Given the description of an element on the screen output the (x, y) to click on. 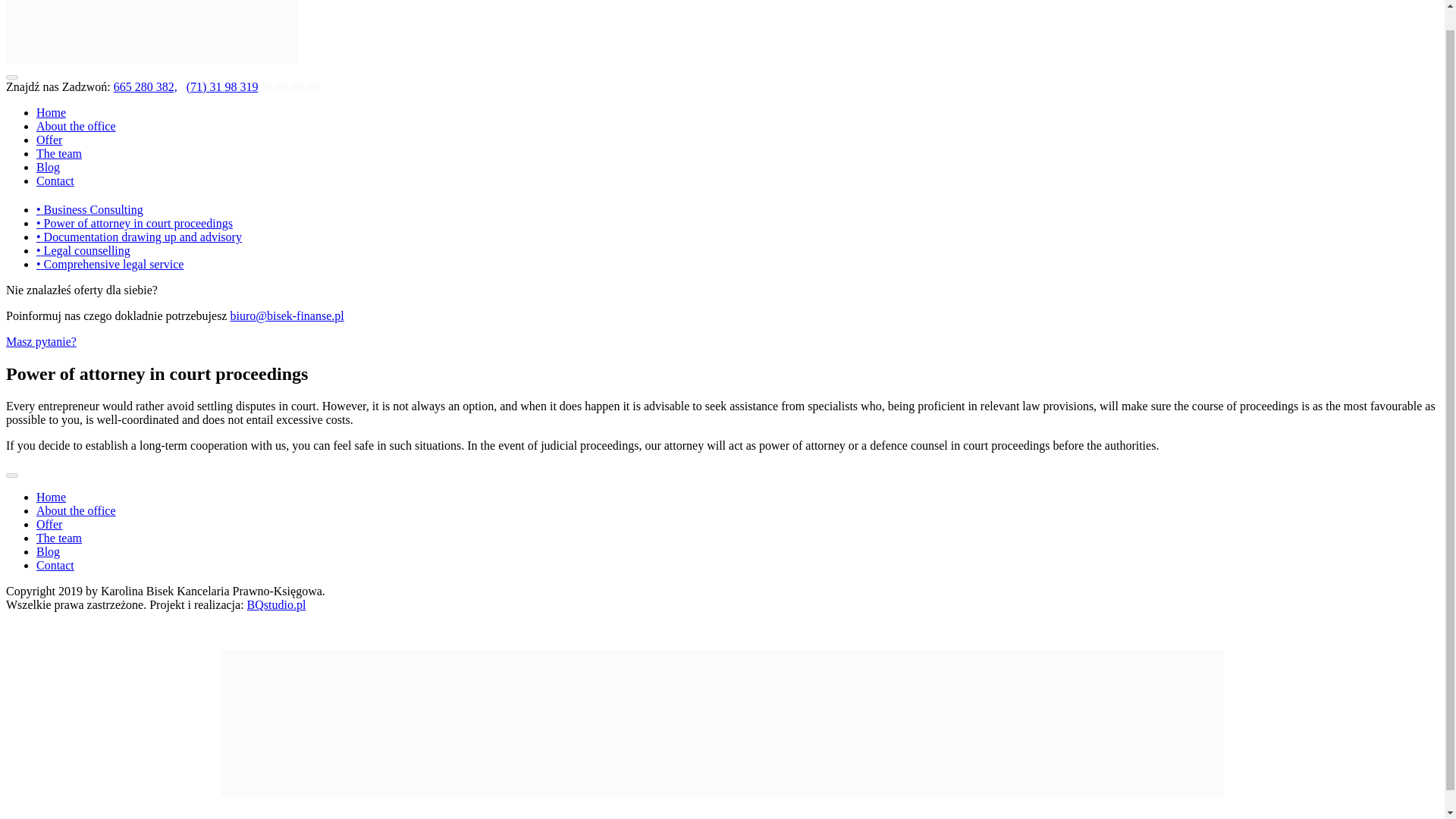
About the office (76, 510)
The team (58, 537)
Blog (47, 166)
About the office (76, 125)
Contact (55, 564)
Home (50, 496)
Blog (47, 551)
Home (50, 112)
Offer (49, 139)
Masz pytanie? (41, 341)
